Given the description of an element on the screen output the (x, y) to click on. 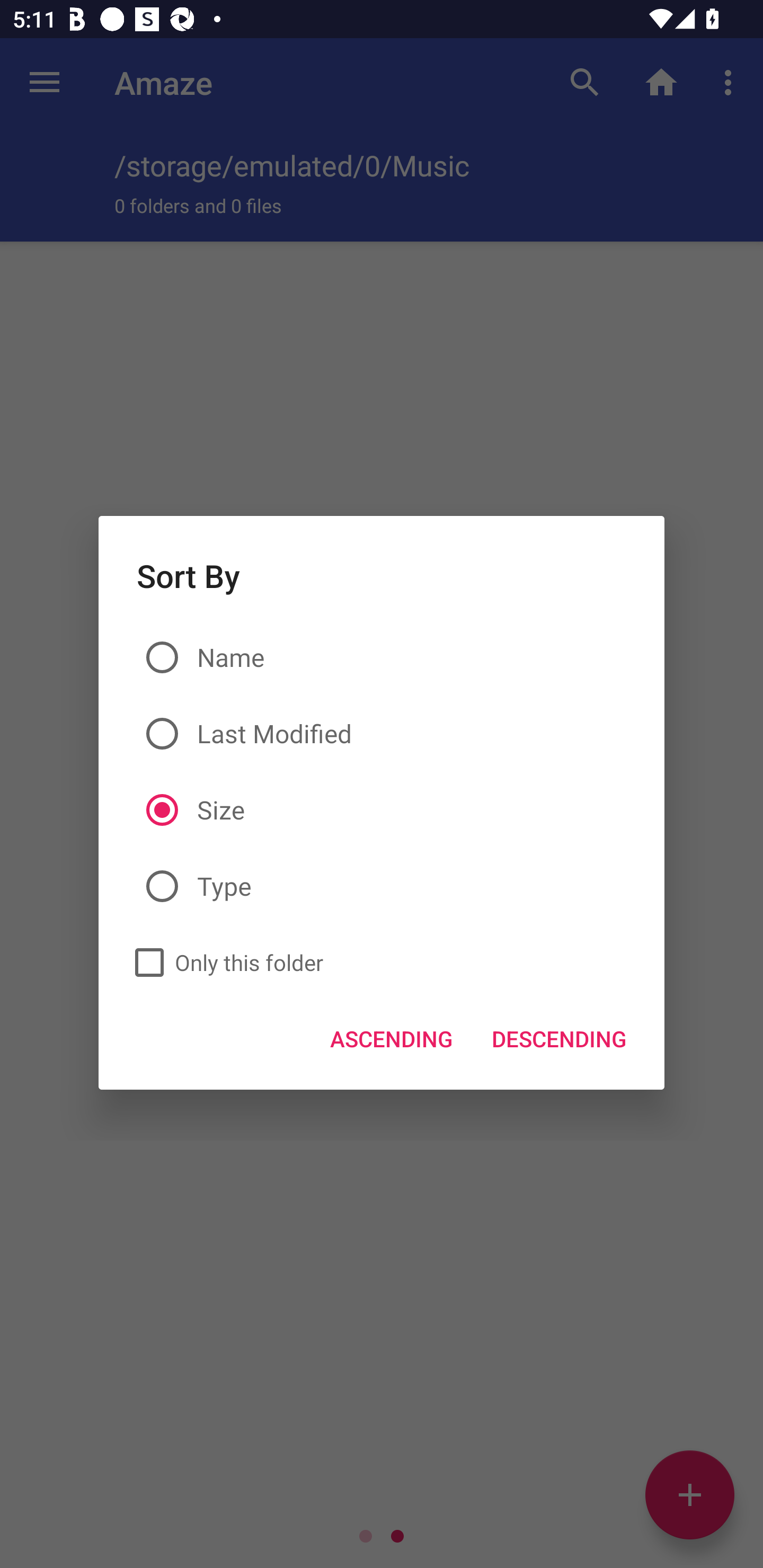
Name (381, 657)
Last Modified (381, 733)
Size (381, 809)
Type (381, 886)
Only this folder (223, 962)
ASCENDING (391, 1038)
DESCENDING (558, 1038)
